Given the description of an element on the screen output the (x, y) to click on. 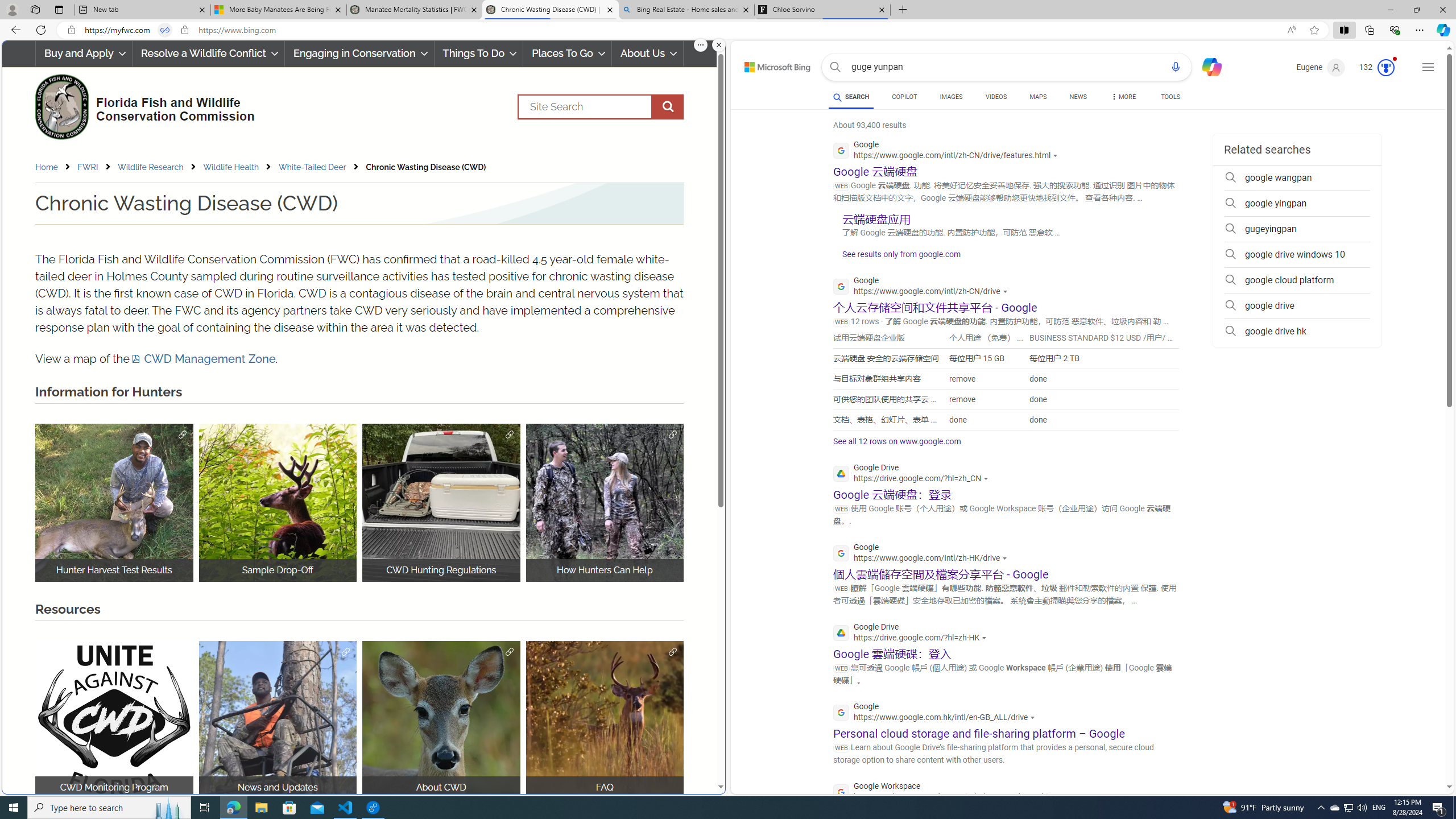
Search (835, 66)
Skip to content (764, 63)
Back to Bing search (770, 64)
See results only from google.com (896, 257)
SEARCH (850, 96)
Google (936, 713)
About Us (647, 53)
MAPS (1038, 98)
